Given the description of an element on the screen output the (x, y) to click on. 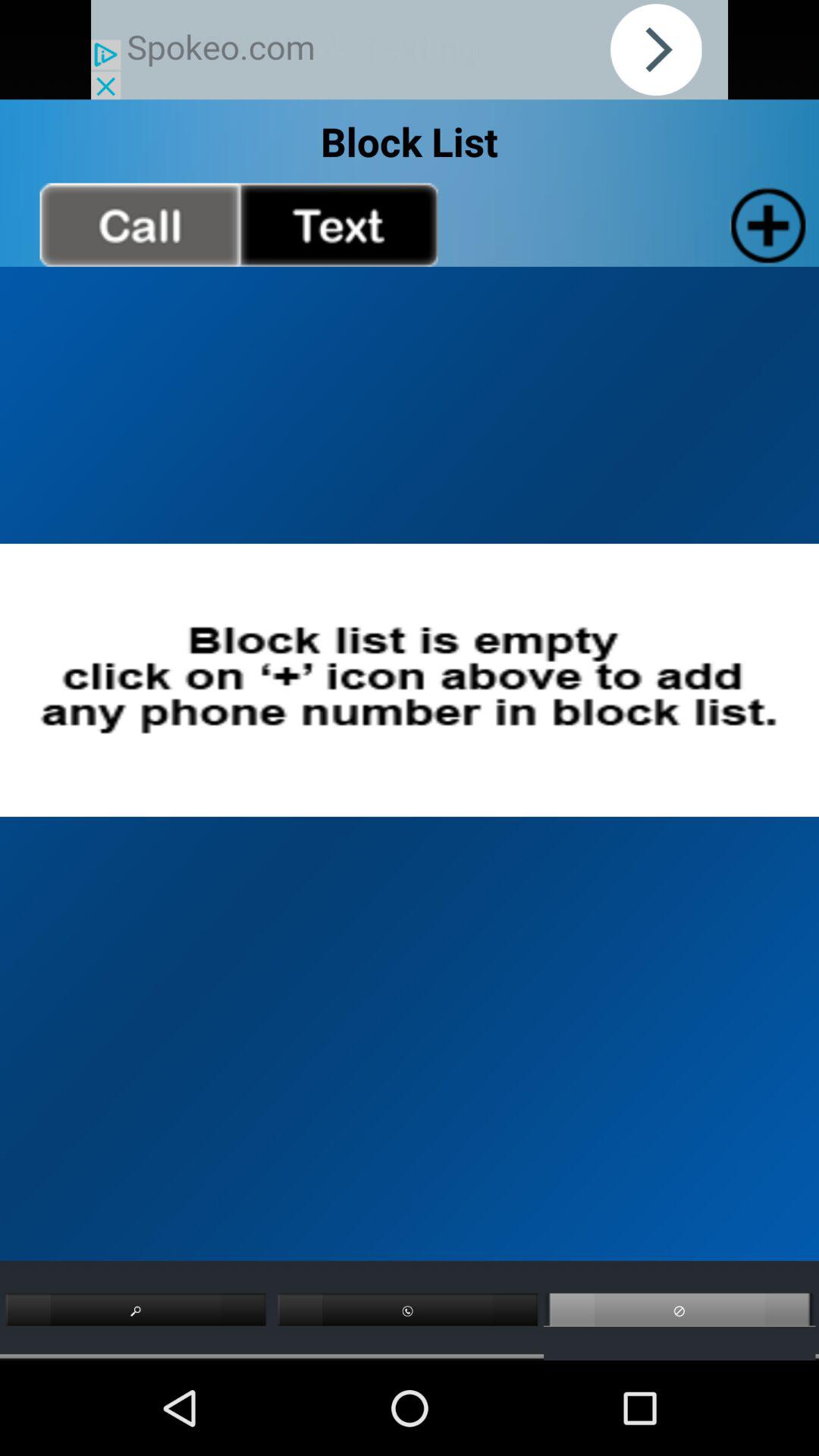
go to text (337, 224)
